Given the description of an element on the screen output the (x, y) to click on. 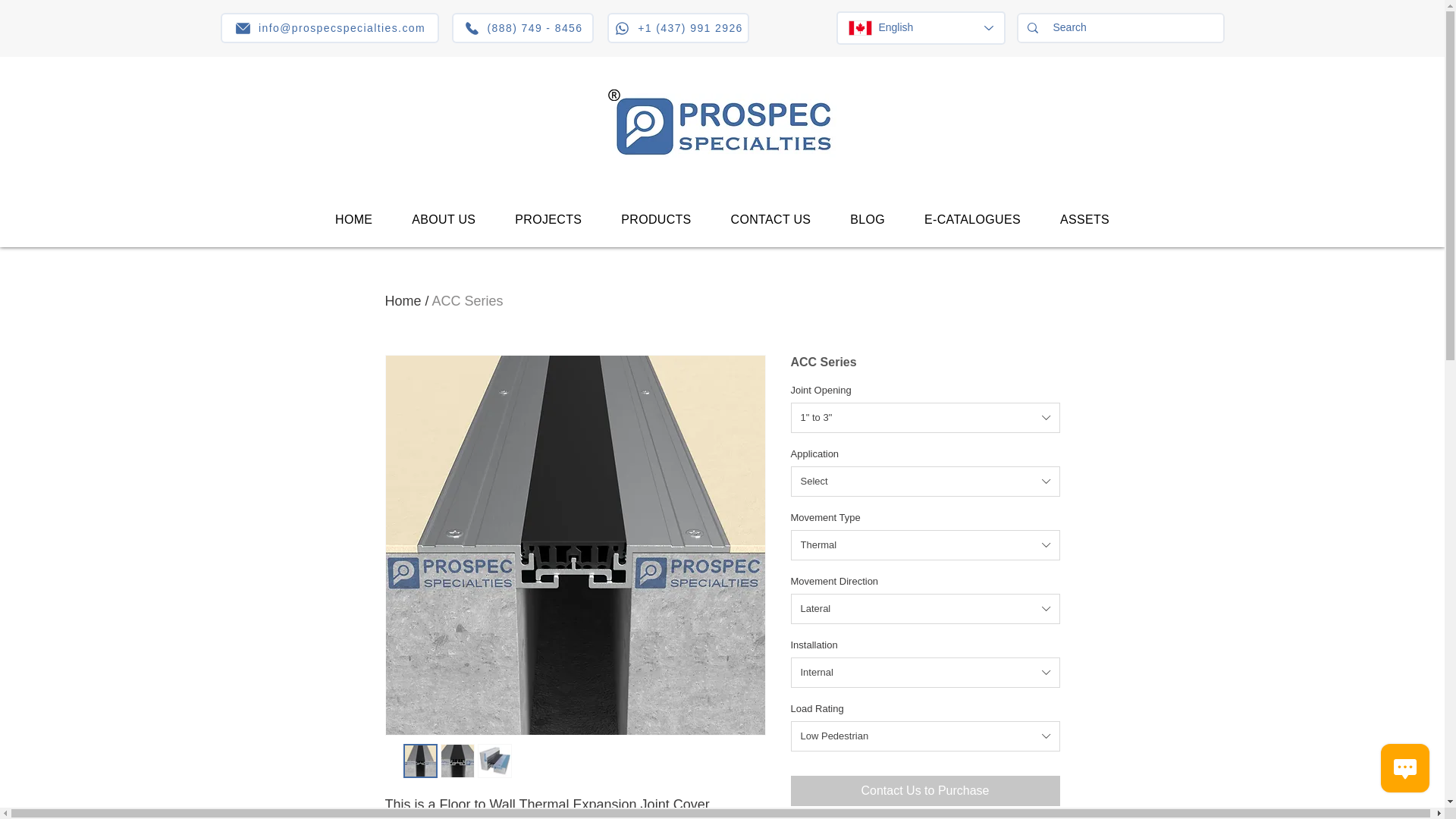
ACC Series (467, 300)
ASSETS (1084, 219)
PROJECTS (547, 219)
HOME (353, 219)
CONTACT US (771, 219)
Home (403, 300)
ABOUT US (443, 219)
E-CATALOGUES (971, 219)
Wix Chat (1408, 771)
BLOG (866, 219)
